Given the description of an element on the screen output the (x, y) to click on. 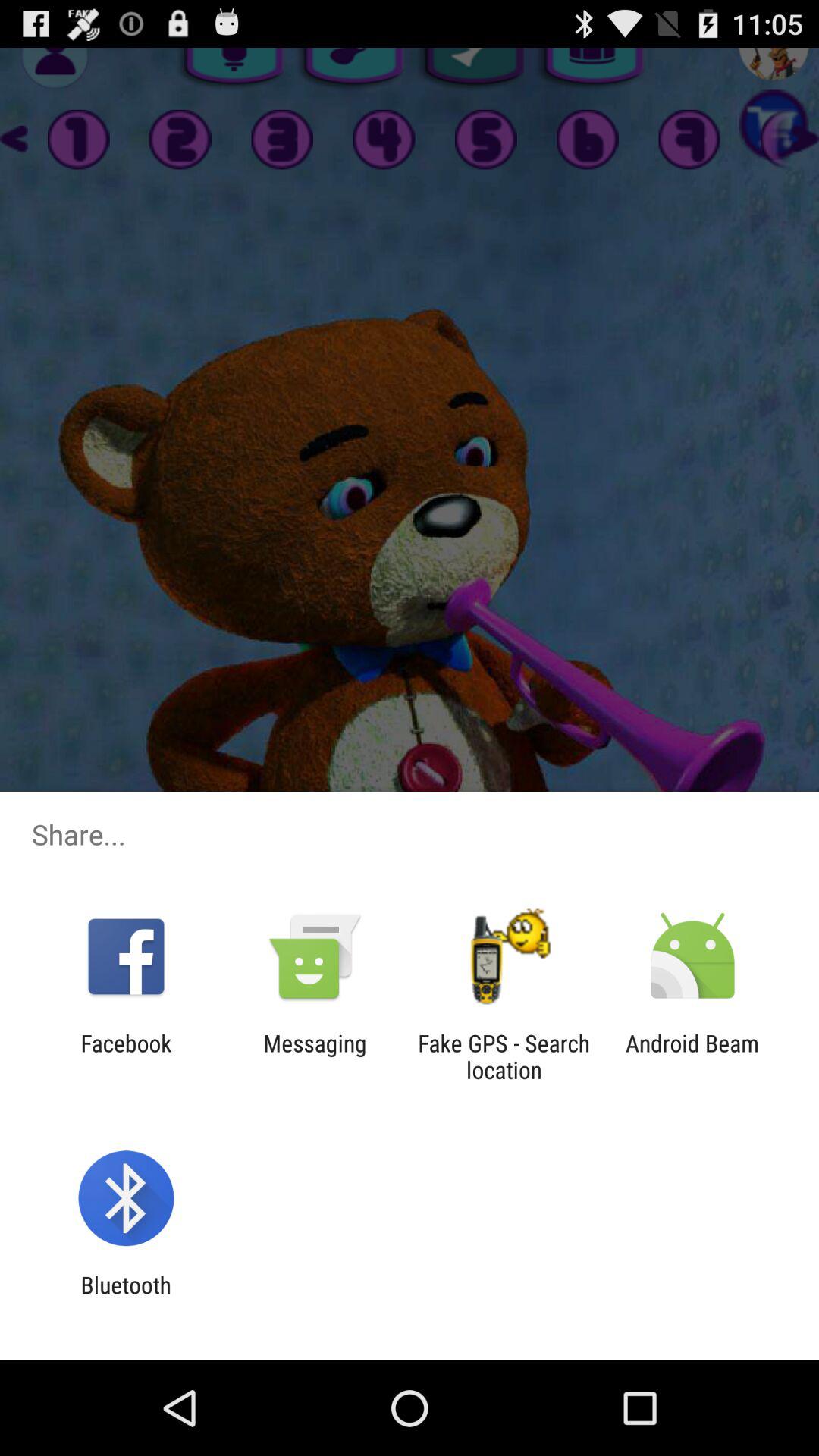
select the item at the bottom right corner (692, 1056)
